Given the description of an element on the screen output the (x, y) to click on. 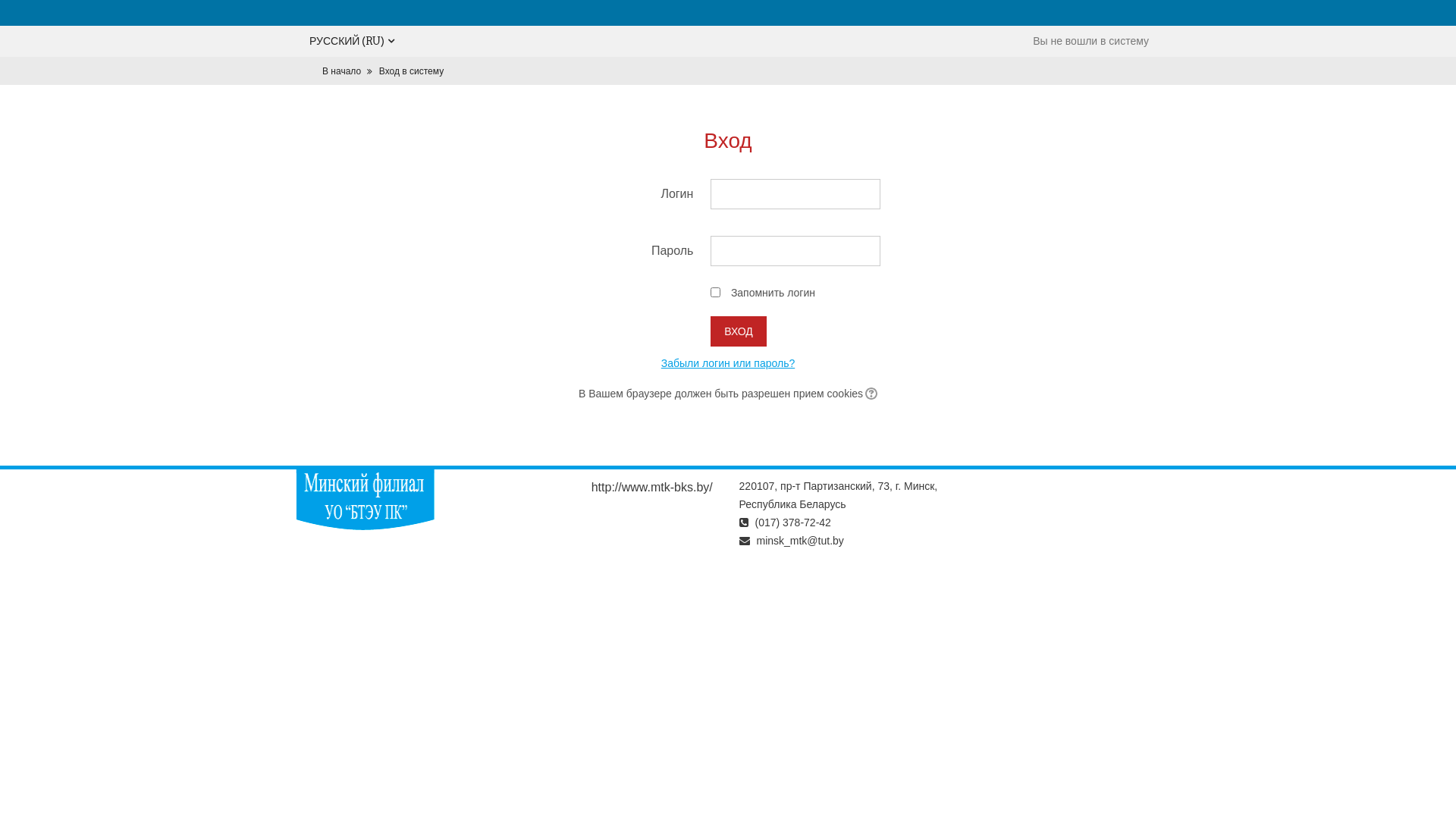
http://www.mtk-bks.by/ Element type: text (651, 487)
minsk_mtk@tut.by Element type: text (798, 540)
